Given the description of an element on the screen output the (x, y) to click on. 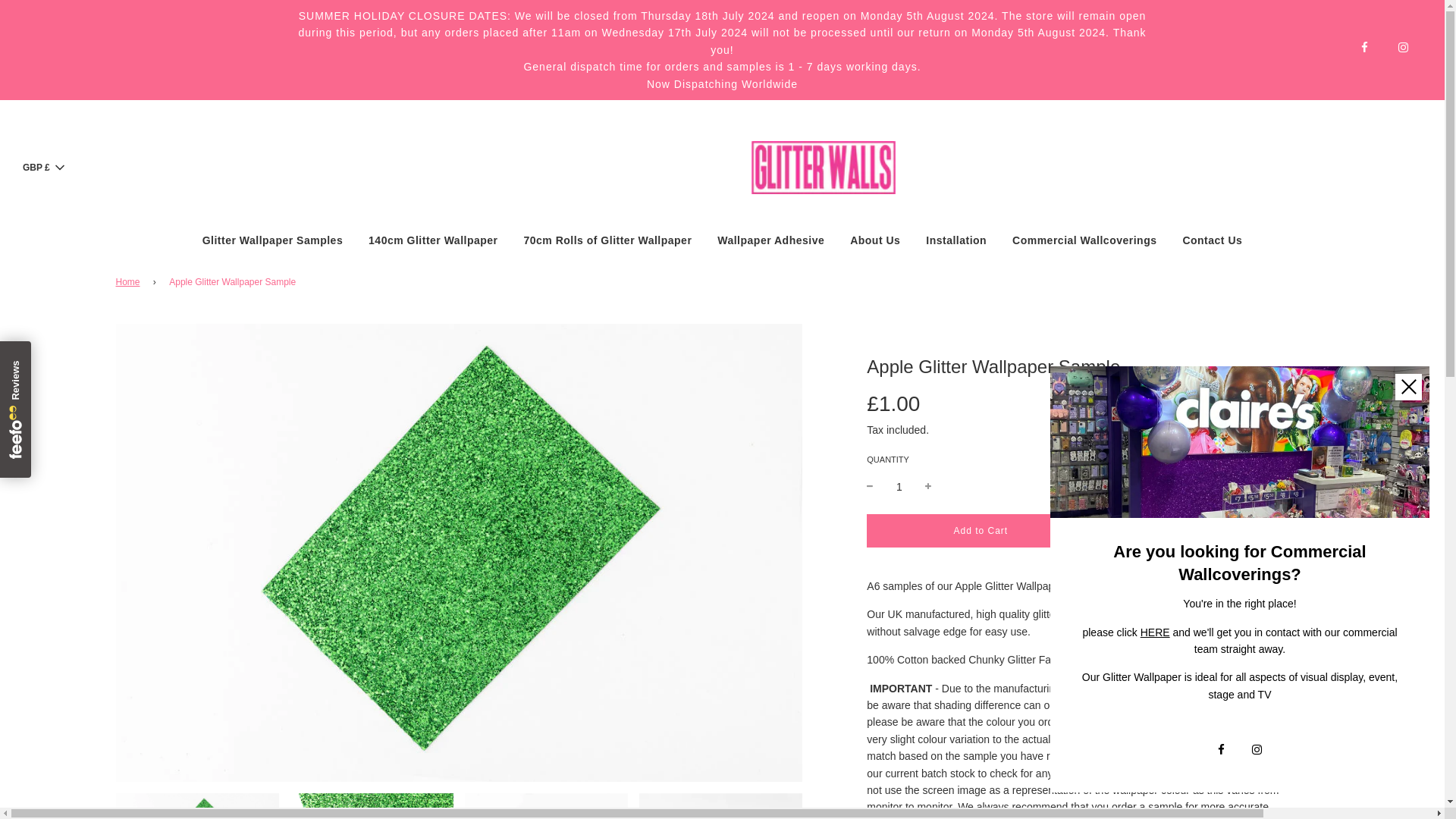
Commercial Wallcoverings (1155, 632)
1 (898, 486)
Back to the frontpage (129, 282)
